Given the description of an element on the screen output the (x, y) to click on. 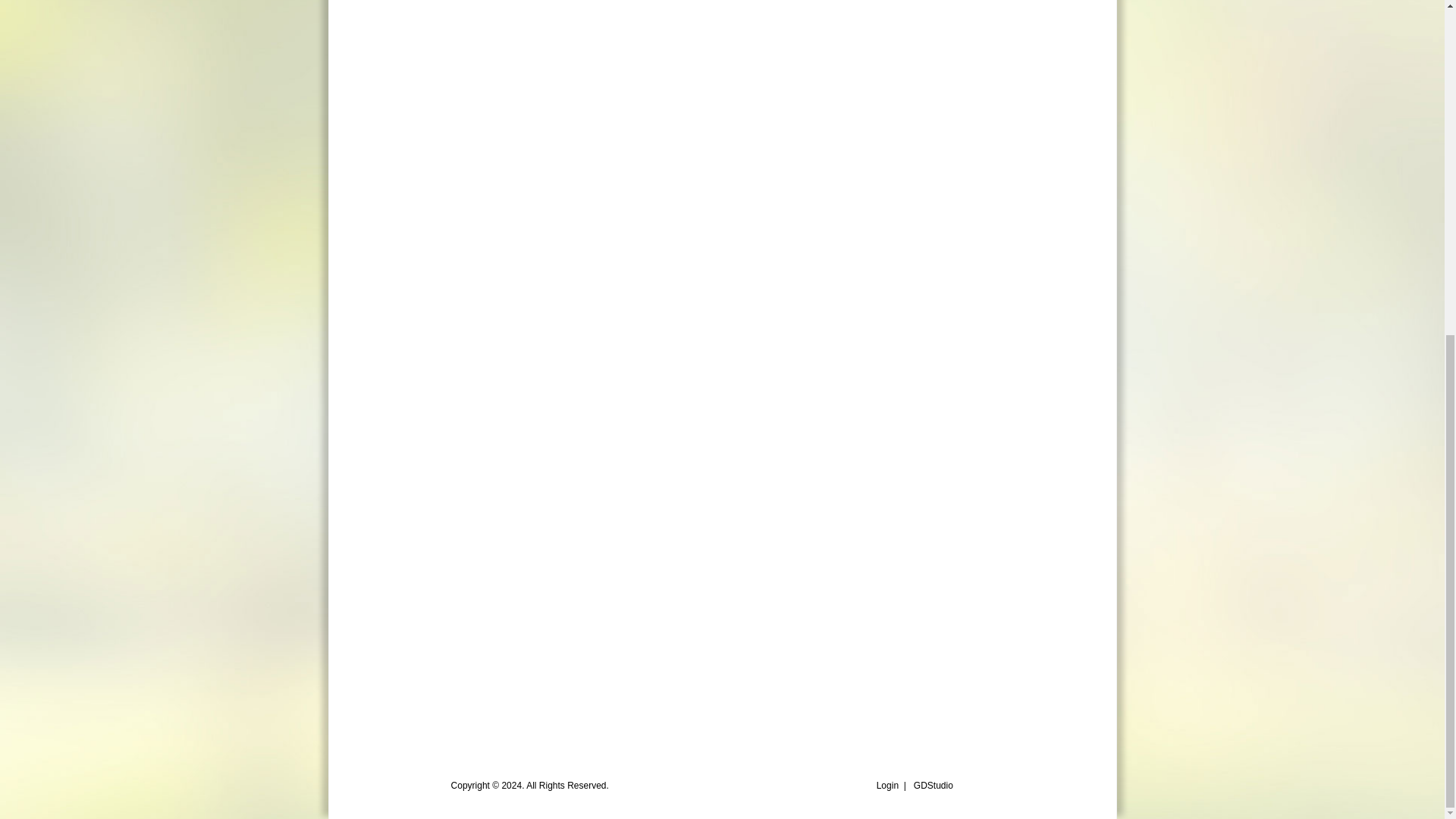
GDStudio (933, 785)
Website design and build by GDStudio (933, 785)
Login (887, 785)
